Given the description of an element on the screen output the (x, y) to click on. 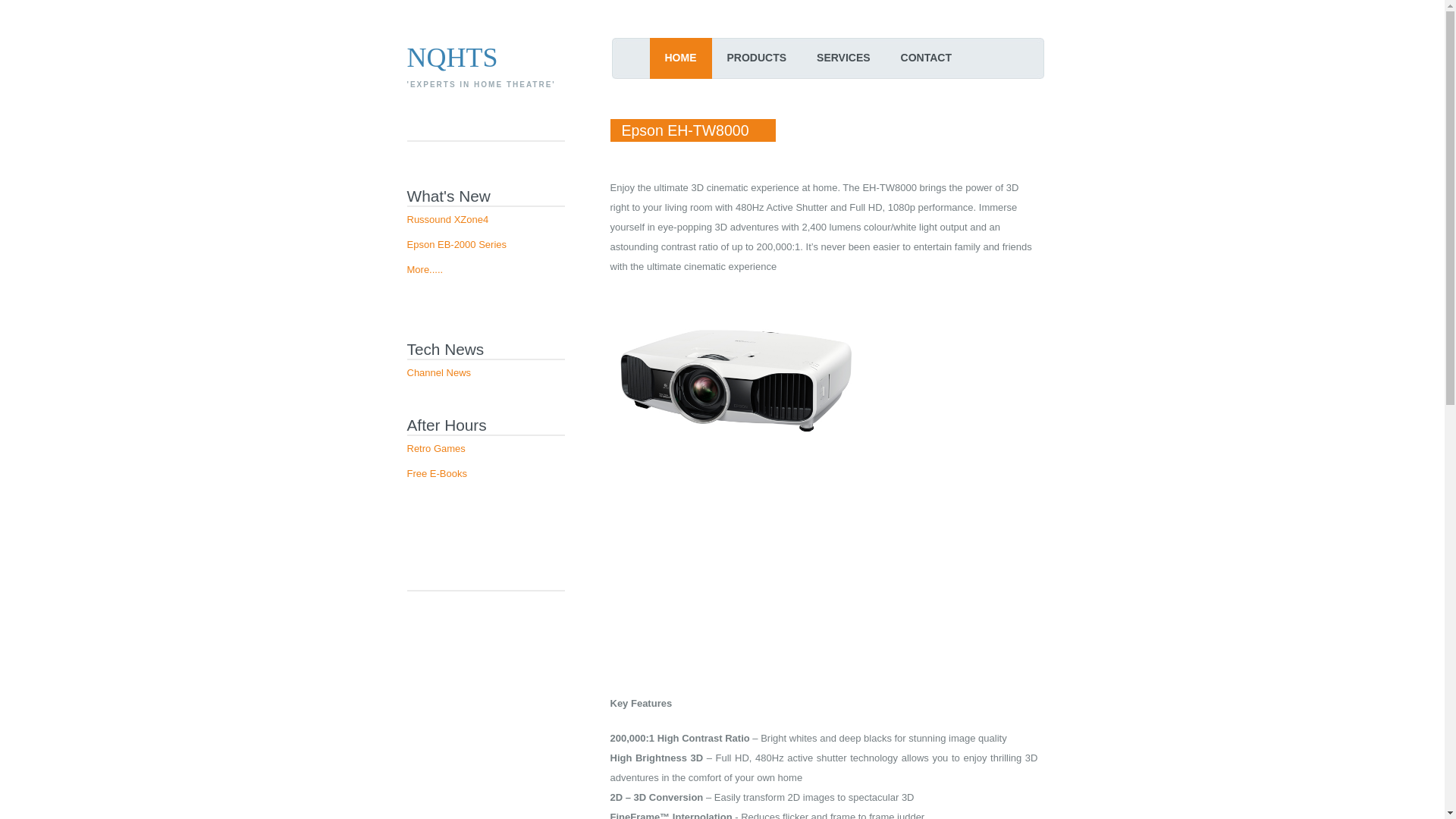
Russound XZone4 Element type: text (447, 219)
PRODUCTS Element type: text (756, 57)
HOME Element type: text (680, 57)
SERVICES Element type: text (843, 57)
Channel News Element type: text (438, 372)
Retro Games Element type: text (435, 448)
Epson EH-TW8000 Element type: text (692, 130)
NQHT Element type: text (444, 57)
Free E-Books Element type: text (436, 473)
CONTACT Element type: text (925, 57)
Epson EB-2000 Series Element type: text (456, 244)
'EXPERTS IN HOME THEATRE' Element type: text (480, 88)
More..... Element type: text (424, 269)
